Given the description of an element on the screen output the (x, y) to click on. 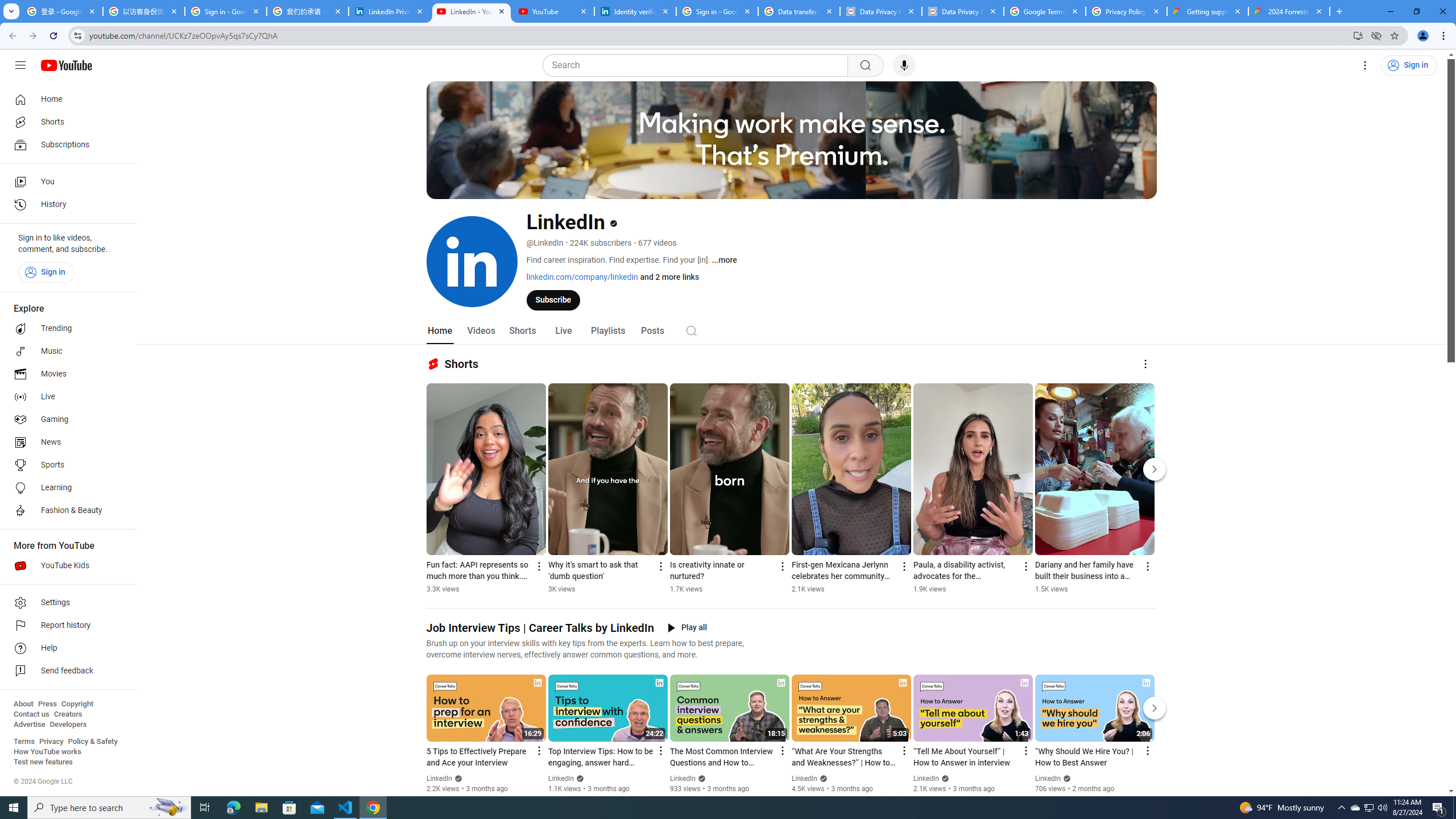
Help (64, 648)
Play all (687, 627)
Minimize (1390, 11)
Test new features (42, 761)
and 2 more links (668, 276)
LinkedIn (1048, 778)
Data Privacy Framework (963, 11)
Terms (23, 741)
You (64, 181)
YouTube Home (66, 65)
News (64, 441)
History (64, 204)
